Given the description of an element on the screen output the (x, y) to click on. 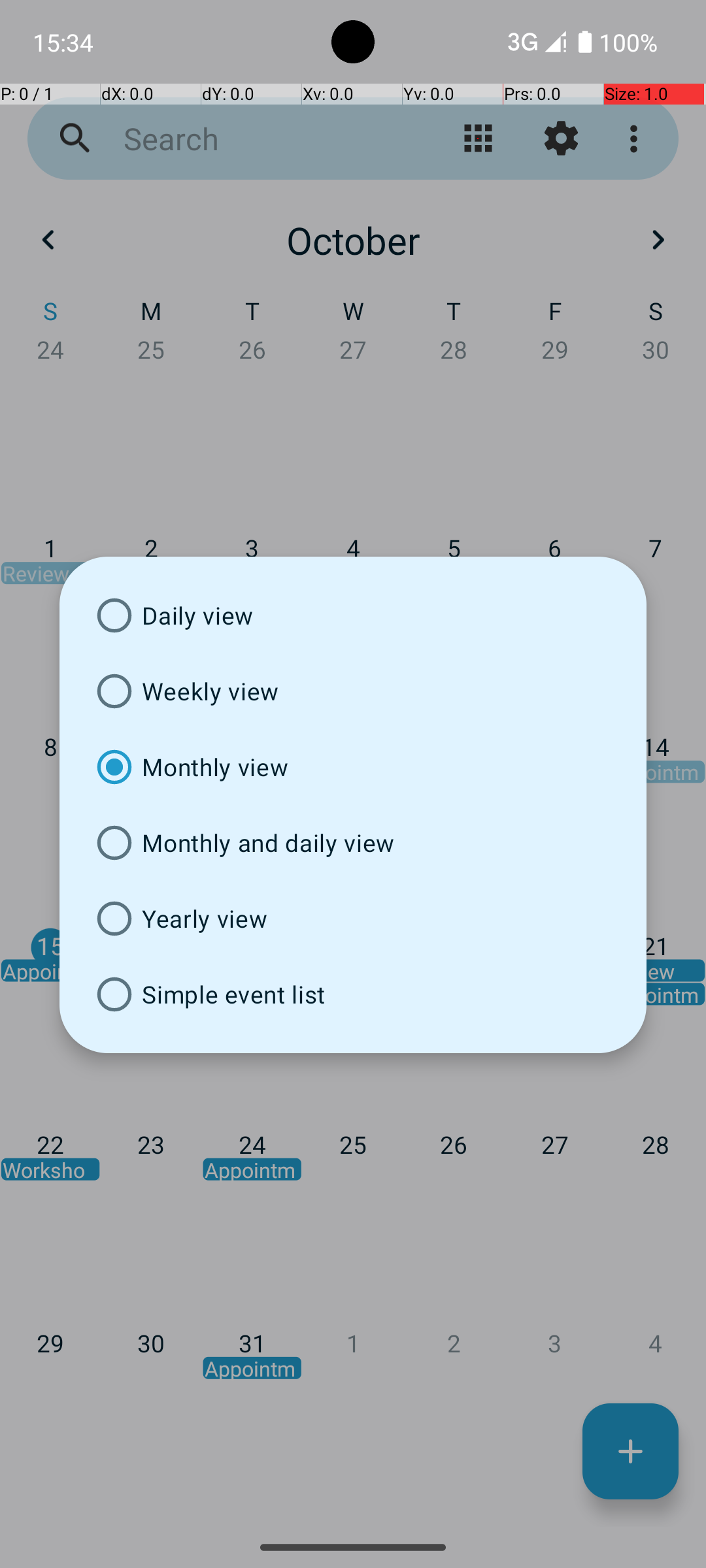
Daily view Element type: android.widget.RadioButton (352, 615)
Weekly view Element type: android.widget.RadioButton (352, 691)
Monthly view Element type: android.widget.RadioButton (352, 766)
Monthly and daily view Element type: android.widget.RadioButton (352, 842)
Yearly view Element type: android.widget.RadioButton (352, 918)
Simple event list Element type: android.widget.RadioButton (352, 994)
